Given the description of an element on the screen output the (x, y) to click on. 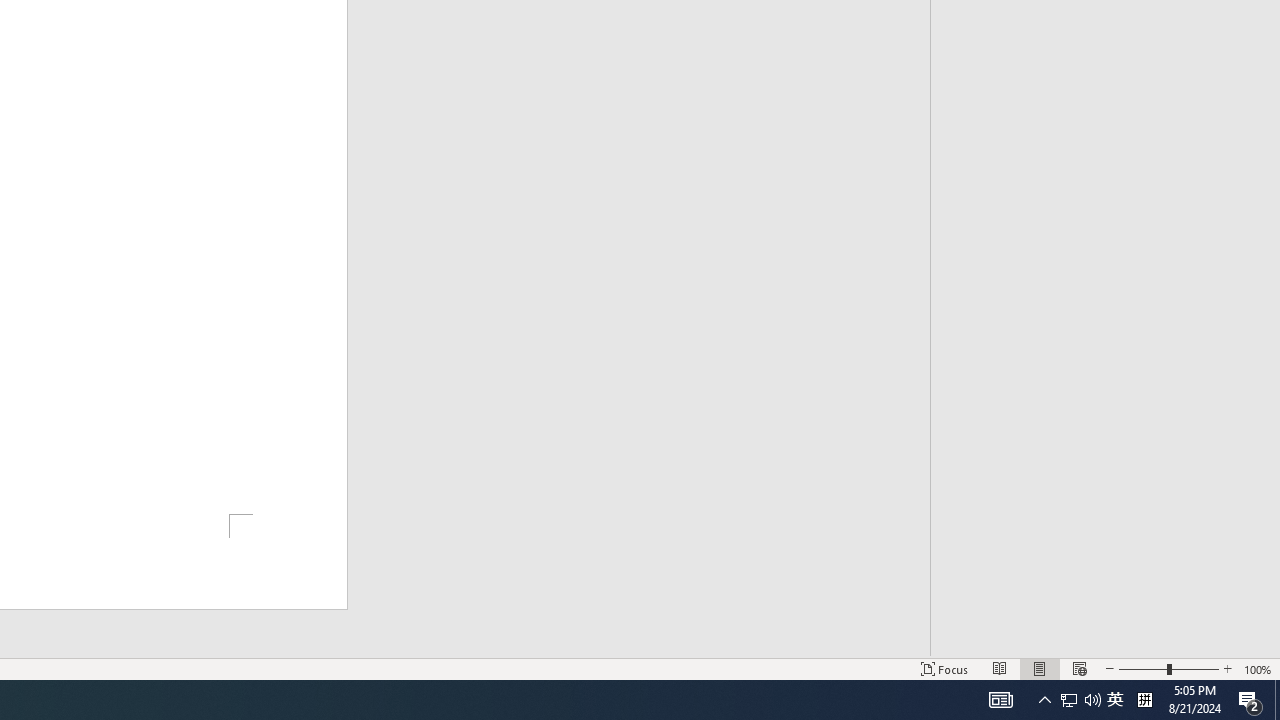
Show desktop (1277, 699)
AutomationID: 4105 (1069, 699)
Tray Input Indicator - Chinese (Simplified, China) (1000, 699)
User Promoted Notification Area (1144, 699)
Notification Chevron (1080, 699)
Action Center, 2 new notifications (1115, 699)
Q2790: 100% (1044, 699)
